Given the description of an element on the screen output the (x, y) to click on. 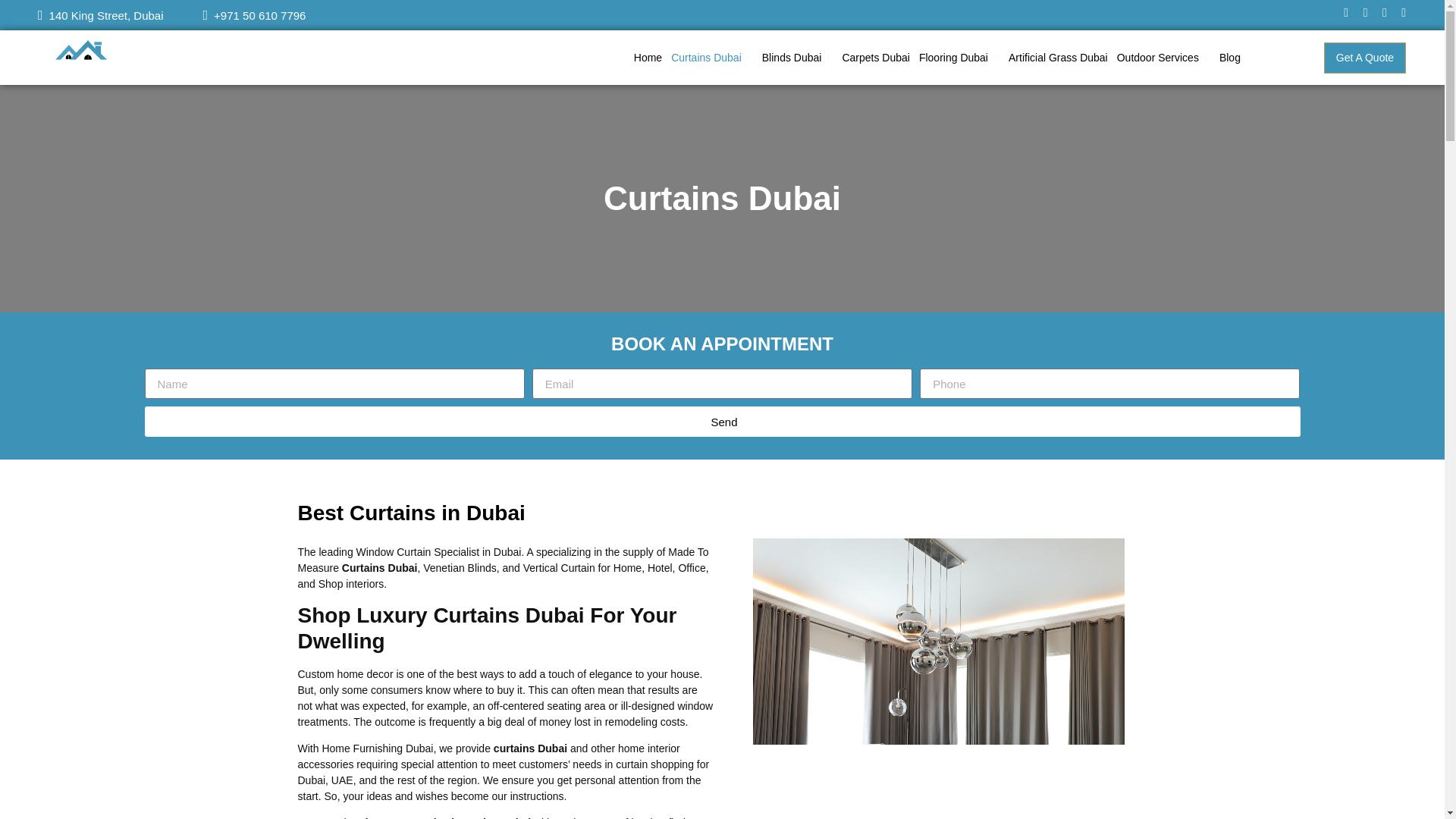
Blinds Dubai (797, 56)
Curtains Dubai (711, 56)
Flooring Dubai (959, 56)
Carpets Dubai (875, 56)
Blog (1229, 56)
Get A Quote (1364, 57)
Home (647, 56)
Artificial Grass Dubai (1058, 56)
Send (722, 421)
Outdoor Services (1163, 56)
